Given the description of an element on the screen output the (x, y) to click on. 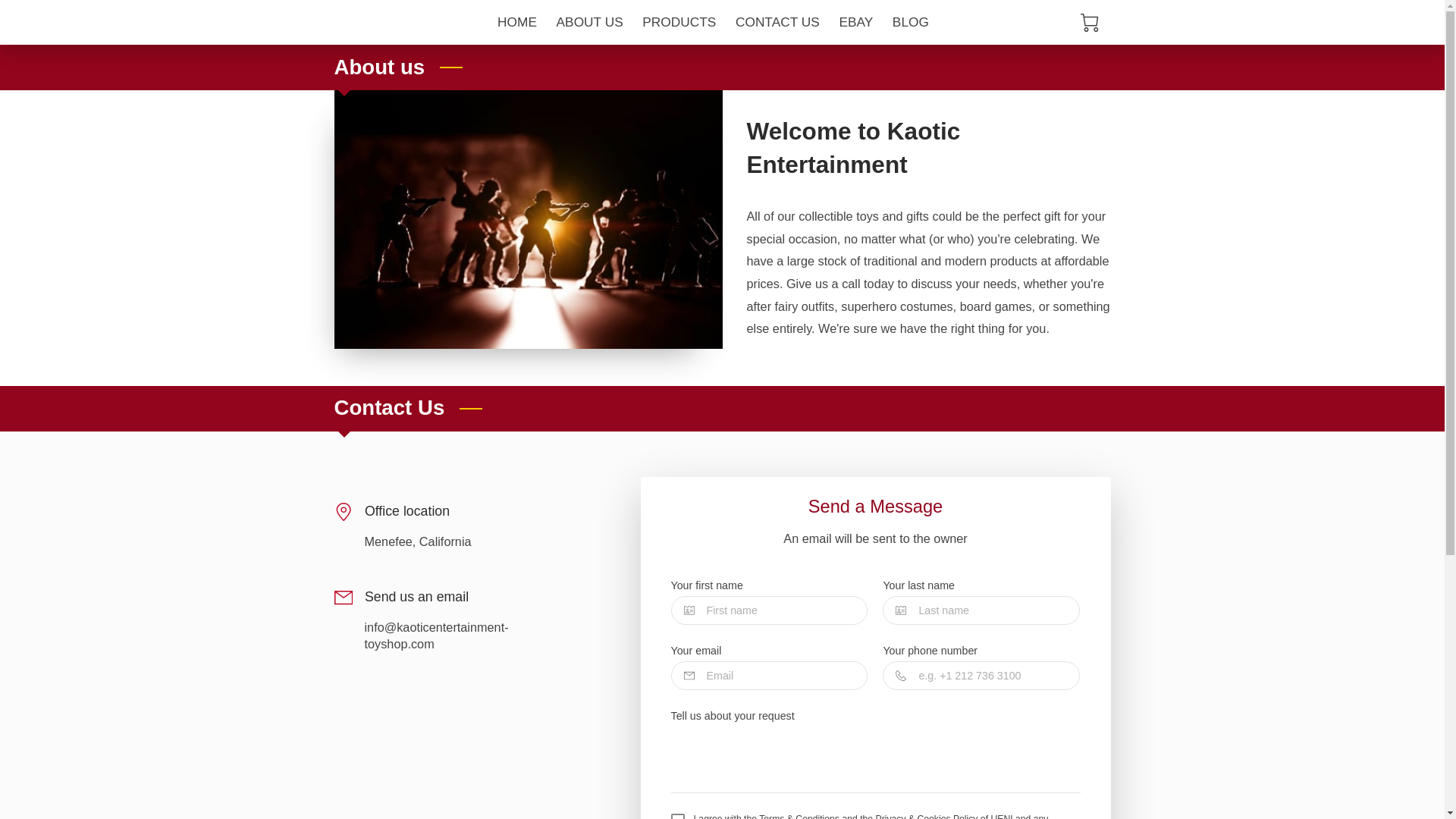
HOME (517, 22)
PRODUCTS (678, 22)
EBAY (855, 22)
CONTACT US (776, 22)
BLOG (910, 22)
ABOUT US (590, 22)
Menefee, California (417, 541)
0 (1088, 22)
